Given the description of an element on the screen output the (x, y) to click on. 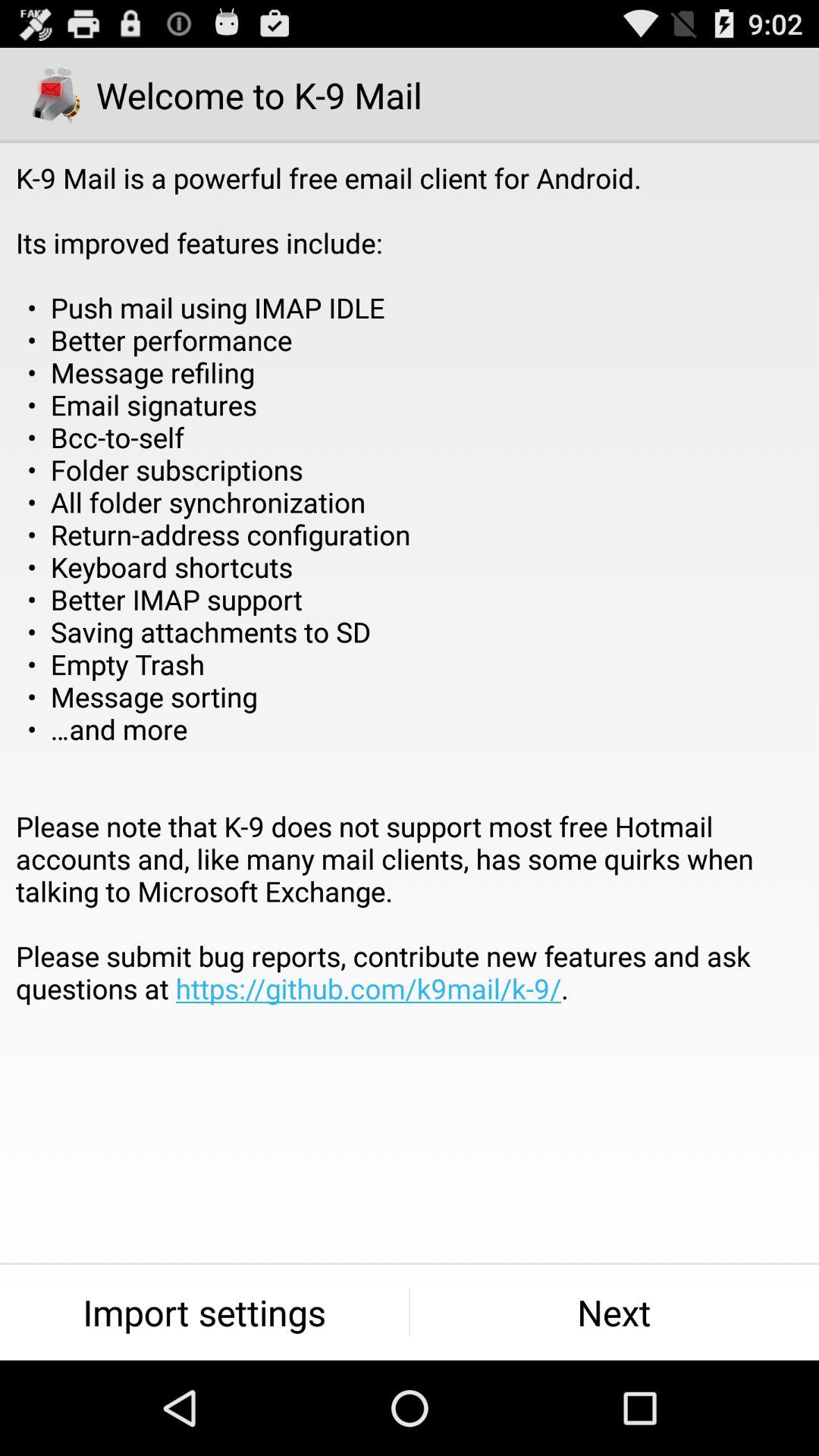
press the item next to the next icon (204, 1312)
